Given the description of an element on the screen output the (x, y) to click on. 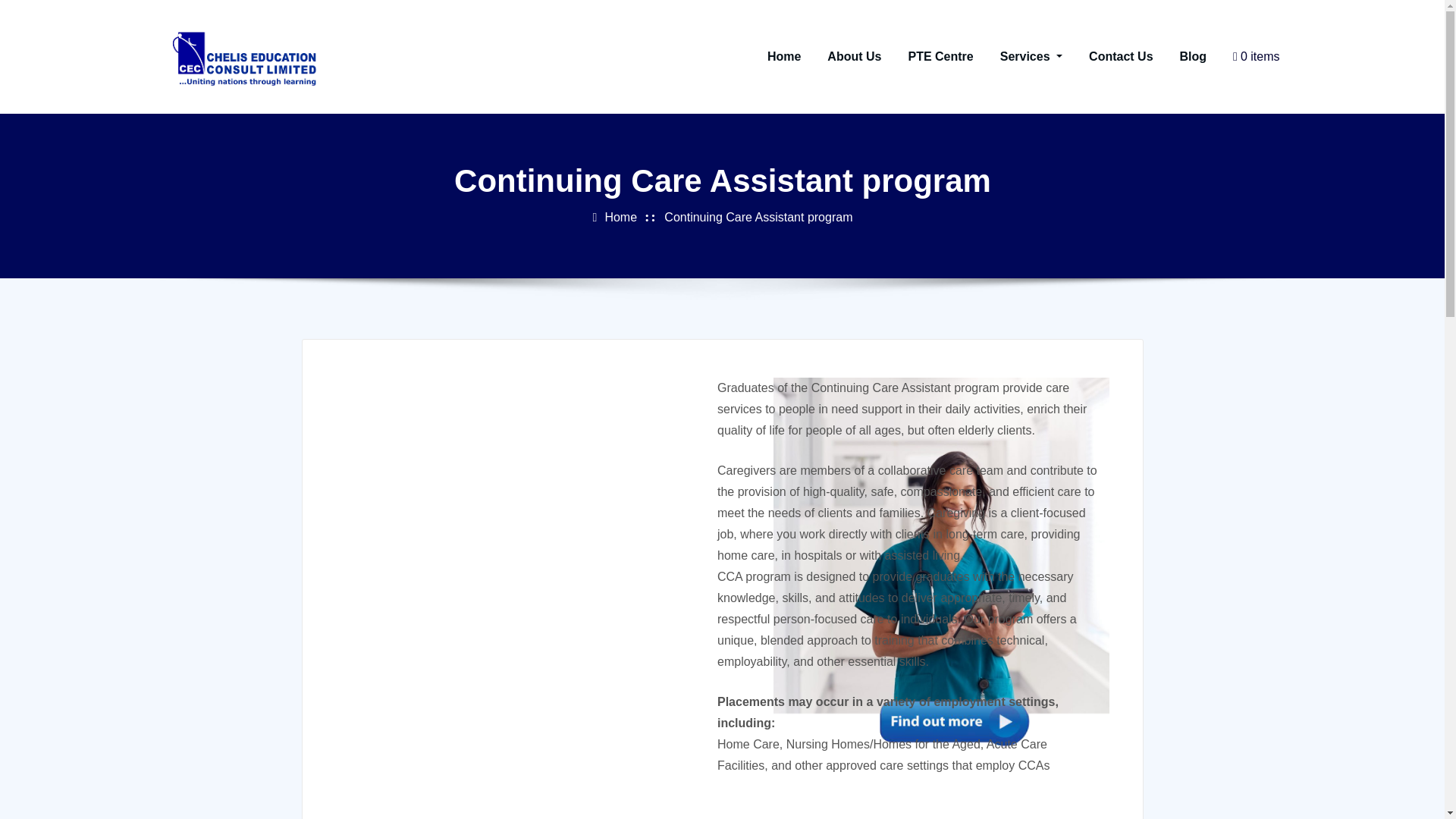
Home (777, 56)
Contact Us (1115, 56)
Services (1025, 56)
0 items (1250, 56)
PTE Centre (935, 56)
Blog (1187, 56)
About Us (849, 56)
Home (614, 262)
Continuing Care Assistant program (751, 256)
